Given the description of an element on the screen output the (x, y) to click on. 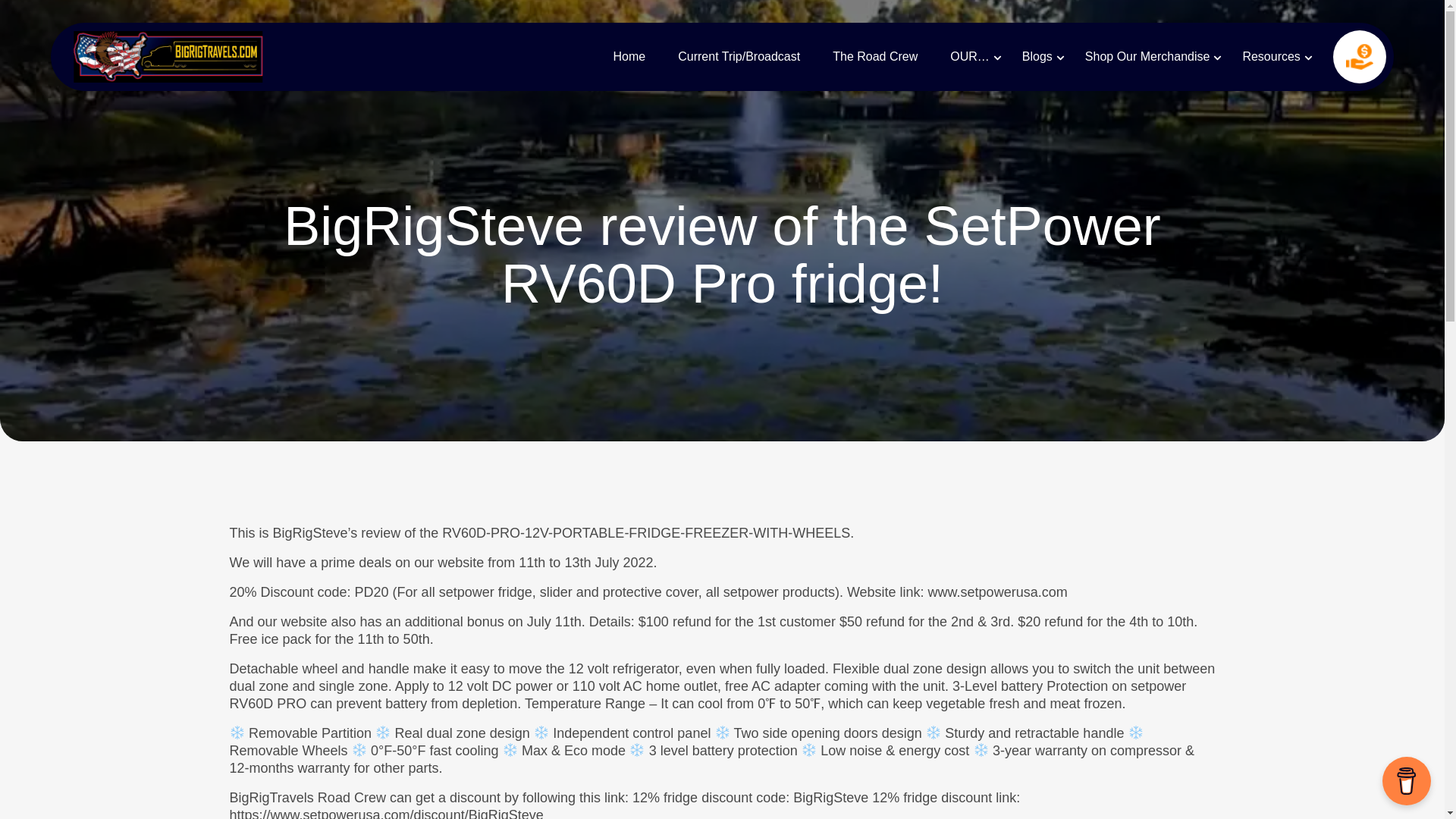
The Road Crew (874, 56)
Donate (1359, 56)
Resources (1270, 56)
Blogs (1037, 56)
Shop Our Merchandise (1146, 56)
Home (629, 56)
